Given the description of an element on the screen output the (x, y) to click on. 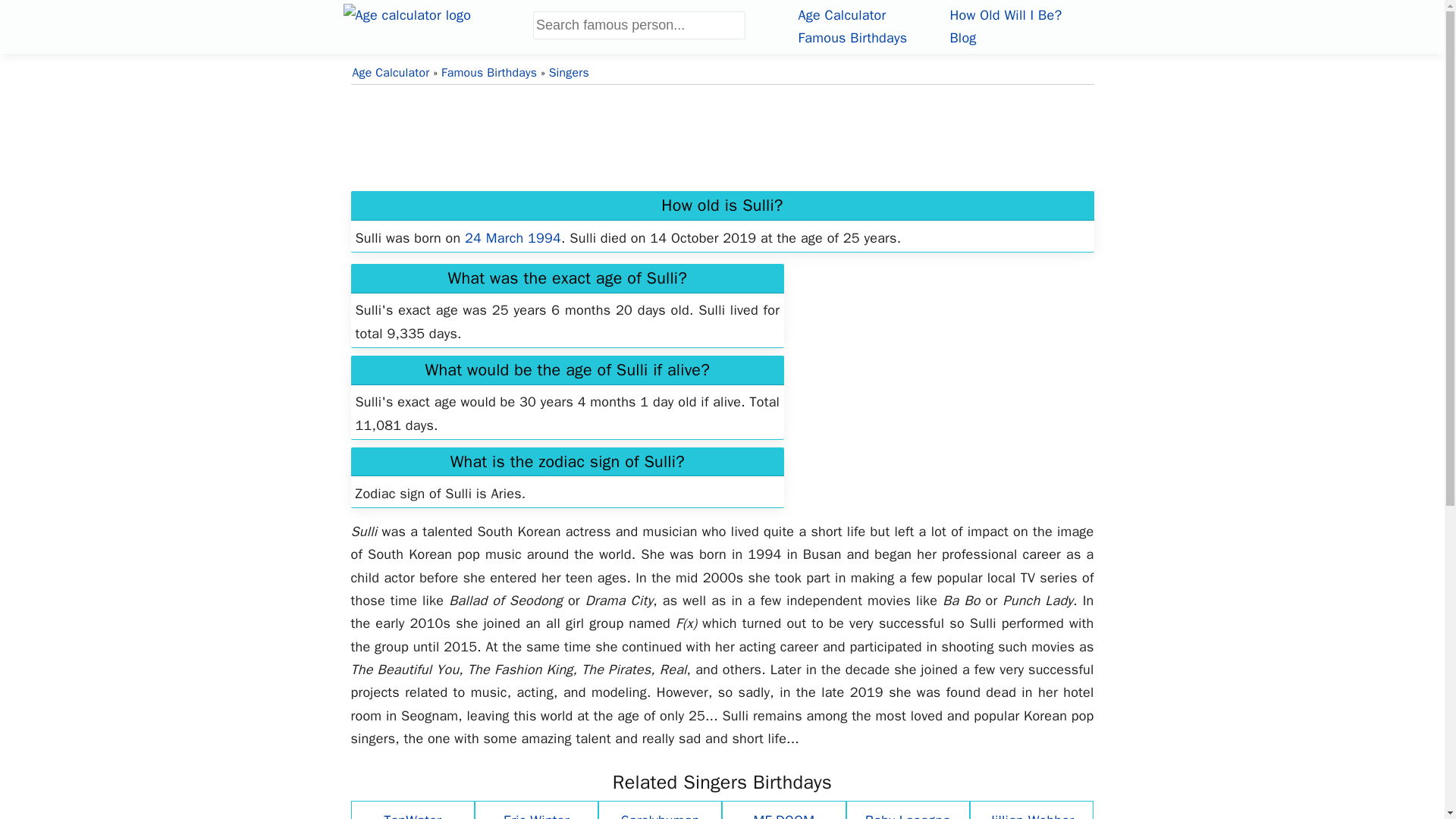
Singers (568, 72)
Famous Birthdays (852, 37)
Age Calculator (437, 24)
Age Calculator (841, 14)
Age Calculator (841, 14)
Blog (962, 37)
Famous Birthdays (852, 37)
How Old Will I Be? (1005, 14)
Age Calculator Blog (962, 37)
How Old Will I Be In The Future? (1005, 14)
March 24 Famous Birthdays (512, 238)
24 March 1994 (512, 238)
Age Calculator (390, 72)
Famous Birthdays (489, 72)
